Given the description of an element on the screen output the (x, y) to click on. 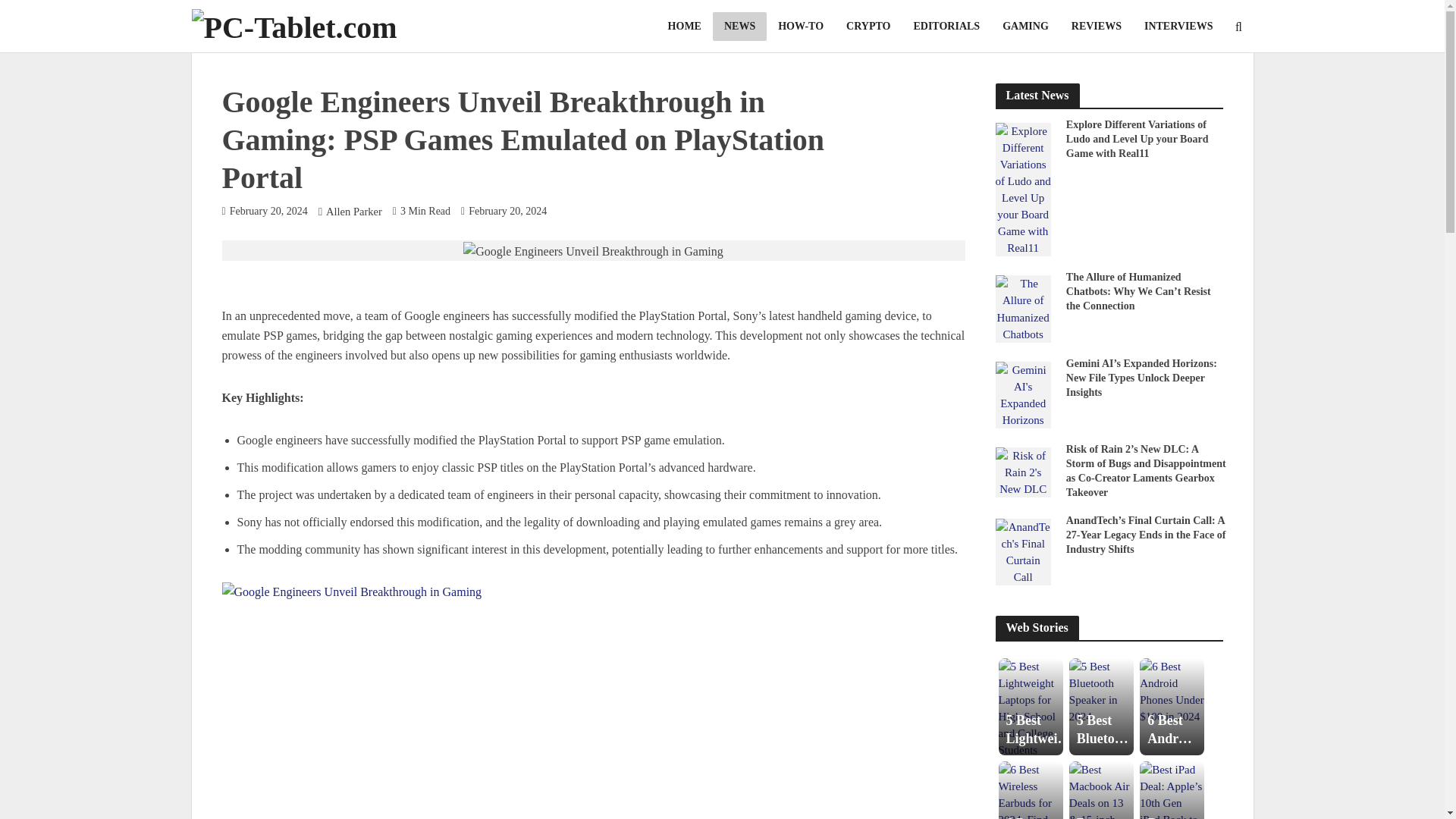
EDITORIALS (946, 26)
HOW-TO (800, 26)
REVIEWS (1095, 26)
INTERVIEWS (1178, 26)
NEWS (740, 26)
CRYPTO (867, 26)
Allen Parker (353, 212)
GAMING (1025, 26)
